Given the description of an element on the screen output the (x, y) to click on. 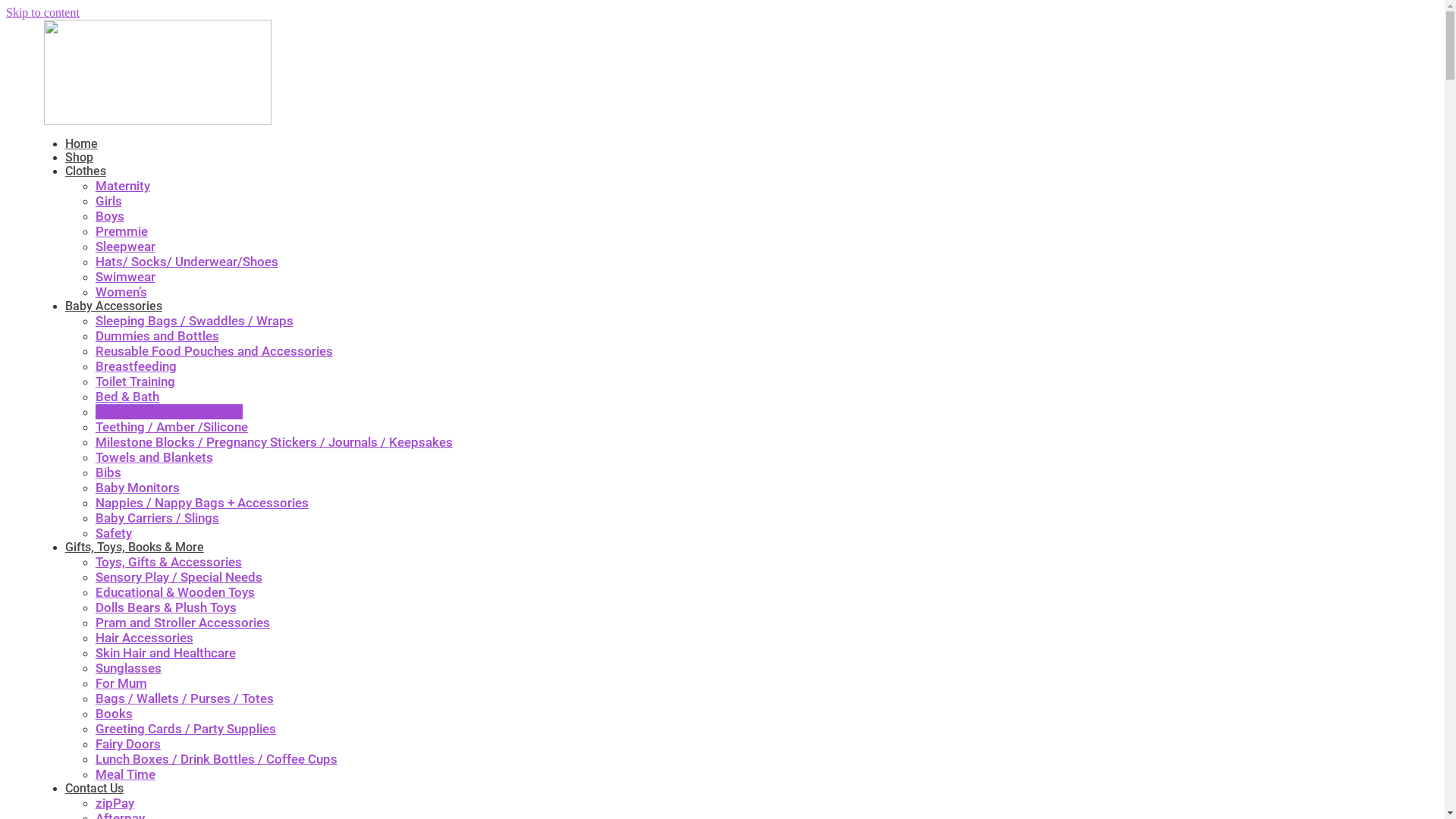
Bibs Element type: text (108, 472)
Gifts, Toys, Books & More Element type: text (134, 546)
Maternity Element type: text (122, 185)
Hats/ Socks/ Underwear/Shoes Element type: text (186, 261)
Hair Accessories Element type: text (144, 637)
Reusable Food Pouches and Accessories Element type: text (213, 350)
Skip to content Element type: text (42, 12)
Teething / Amber /Silicone Element type: text (171, 426)
Sensory Play / Special Needs Element type: text (178, 576)
Sleeping Bags / Swaddles / Wraps Element type: text (194, 320)
Baby Carriers / Slings Element type: text (157, 517)
Boys Element type: text (109, 215)
Nursery / Bedroom Decor Element type: text (168, 411)
Greeting Cards / Party Supplies Element type: text (185, 728)
Sunglasses Element type: text (128, 667)
Fairy Doors Element type: text (127, 743)
Toilet Training Element type: text (135, 381)
Clothes Element type: text (85, 170)
Contact Us Element type: text (94, 788)
zipPay Element type: text (114, 802)
Towels and Blankets Element type: text (154, 456)
Dummies and Bottles Element type: text (157, 335)
Nappies / Nappy Bags + Accessories Element type: text (201, 502)
Shop Element type: text (79, 157)
Baby Accessories Element type: text (113, 305)
Educational & Wooden Toys Element type: text (174, 591)
Toys, Gifts & Accessories Element type: text (168, 561)
Girls Element type: text (108, 200)
Milestone Blocks / Pregnancy Stickers / Journals / Keepsakes Element type: text (273, 441)
Meal Time Element type: text (125, 773)
Sleepwear Element type: text (125, 246)
Bed & Bath Element type: text (127, 396)
For Mum Element type: text (121, 682)
Bags / Wallets / Purses / Totes Element type: text (184, 698)
Dolls Bears & Plush Toys Element type: text (165, 607)
Breastfeeding Element type: text (135, 365)
Skin Hair and Healthcare Element type: text (165, 652)
Baby Monitors Element type: text (137, 487)
Swimwear Element type: text (125, 276)
Lunch Boxes / Drink Bottles / Coffee Cups Element type: text (216, 758)
Pram and Stroller Accessories Element type: text (182, 622)
Home Element type: text (81, 143)
Premmie Element type: text (121, 230)
Books Element type: text (113, 713)
Safety Element type: text (113, 532)
